Given the description of an element on the screen output the (x, y) to click on. 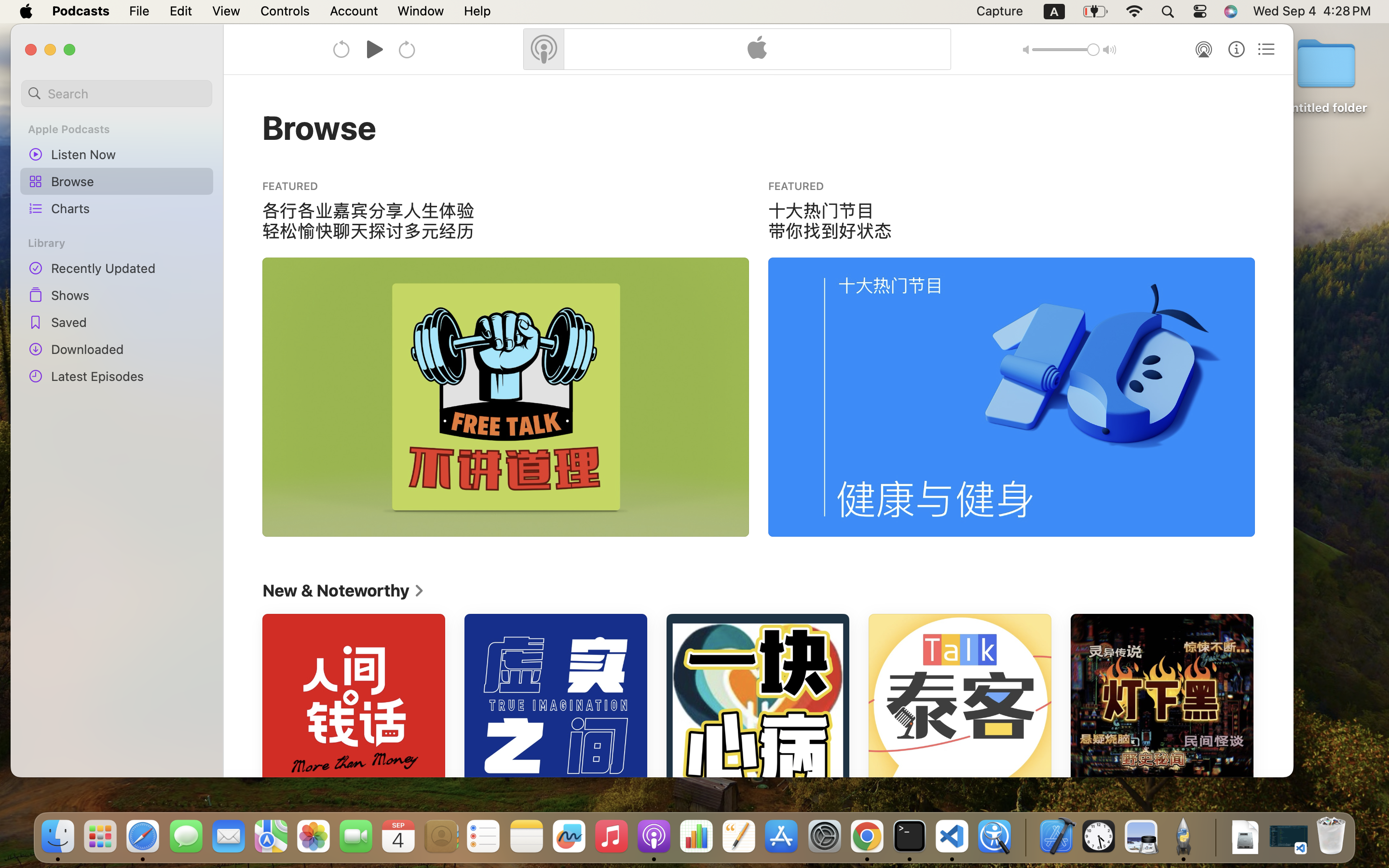
1.0 Element type: AXSlider (1065, 49)
0.4285714328289032 Element type: AXDockItem (1024, 836)
